Given the description of an element on the screen output the (x, y) to click on. 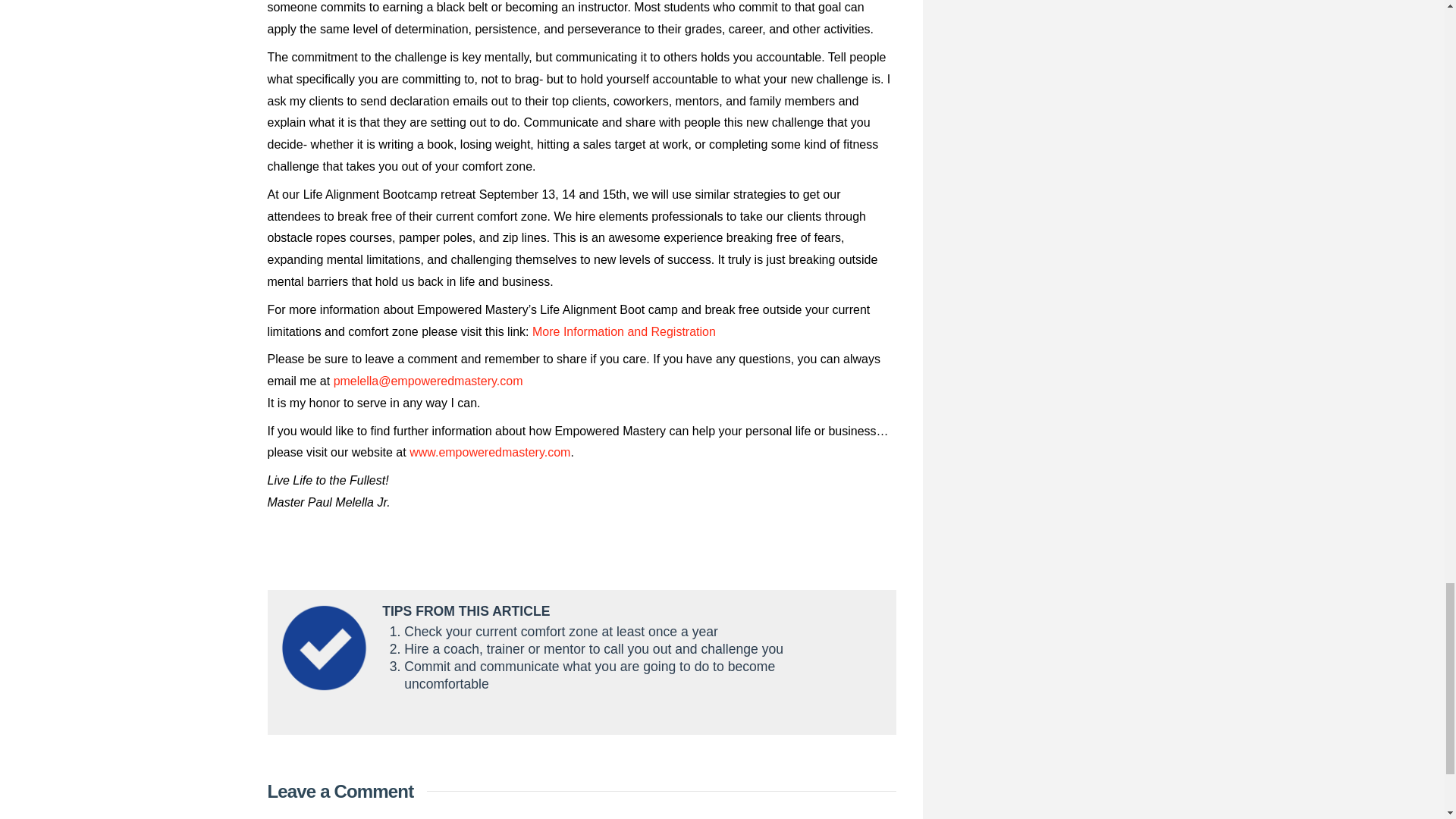
www.empoweredmastery.com (489, 451)
 More Information and Registration (622, 330)
